Given the description of an element on the screen output the (x, y) to click on. 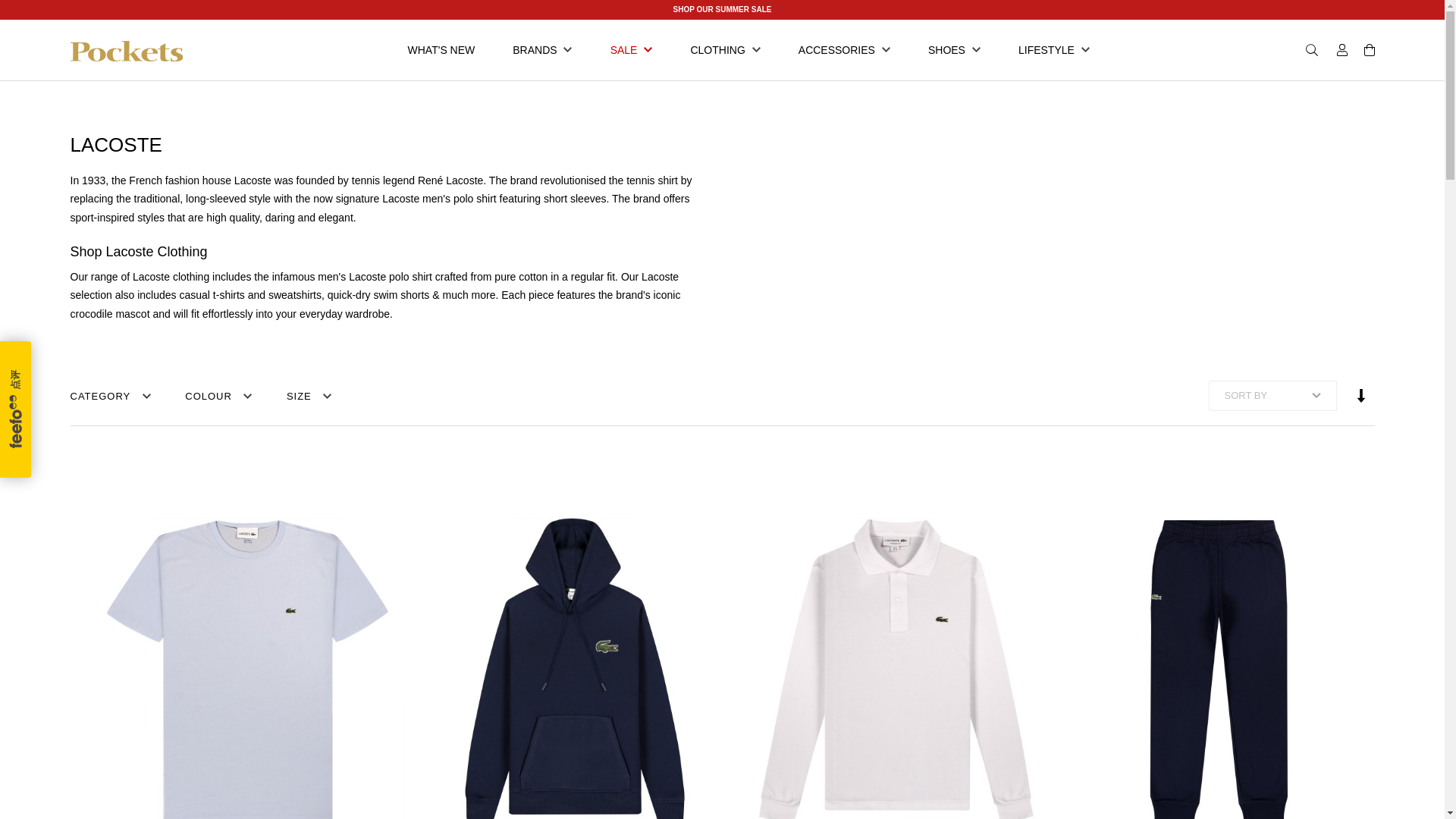
SHOP OUR SUMMER SALE (721, 8)
WHAT'S NEW (441, 49)
BRANDS (542, 49)
What's New (441, 49)
Brands (542, 49)
